Given the description of an element on the screen output the (x, y) to click on. 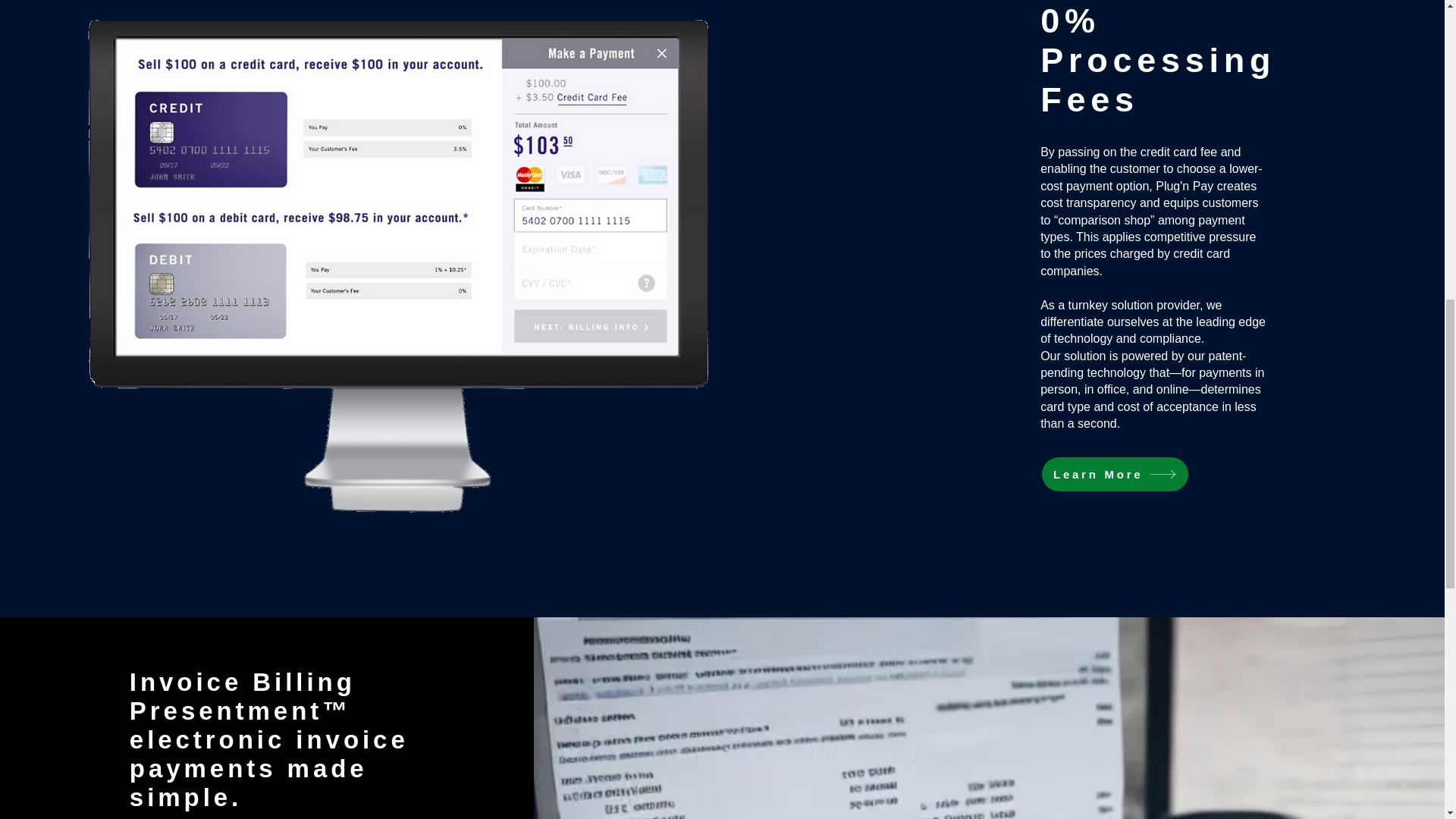
Learn More (1115, 474)
